Given the description of an element on the screen output the (x, y) to click on. 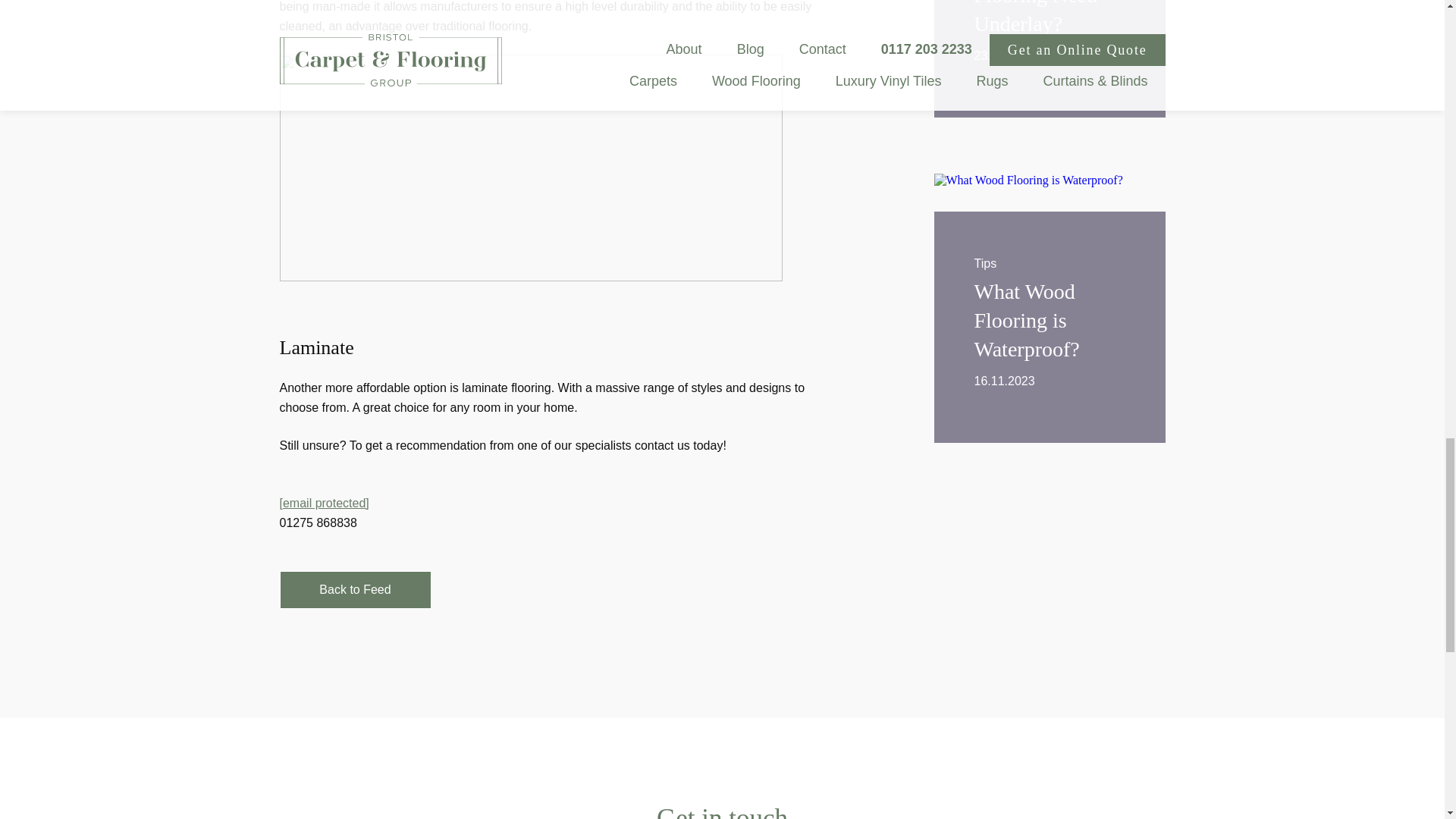
Back to Feed (1050, 288)
